Given the description of an element on the screen output the (x, y) to click on. 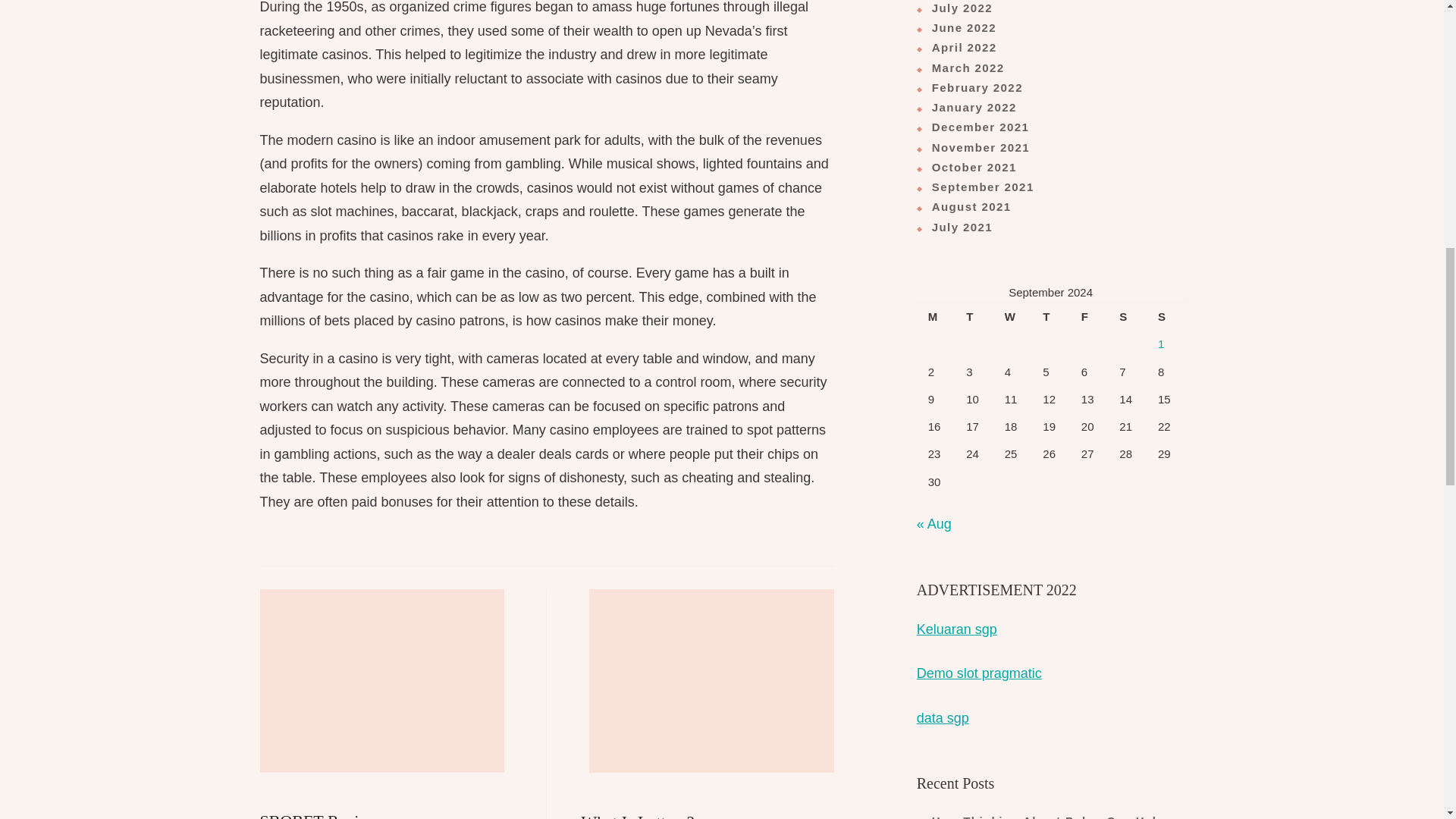
Wednesday (1012, 317)
Thursday (1050, 317)
Saturday (1127, 317)
Tuesday (973, 317)
Monday (936, 317)
Sunday (1166, 317)
Friday (707, 703)
